Given the description of an element on the screen output the (x, y) to click on. 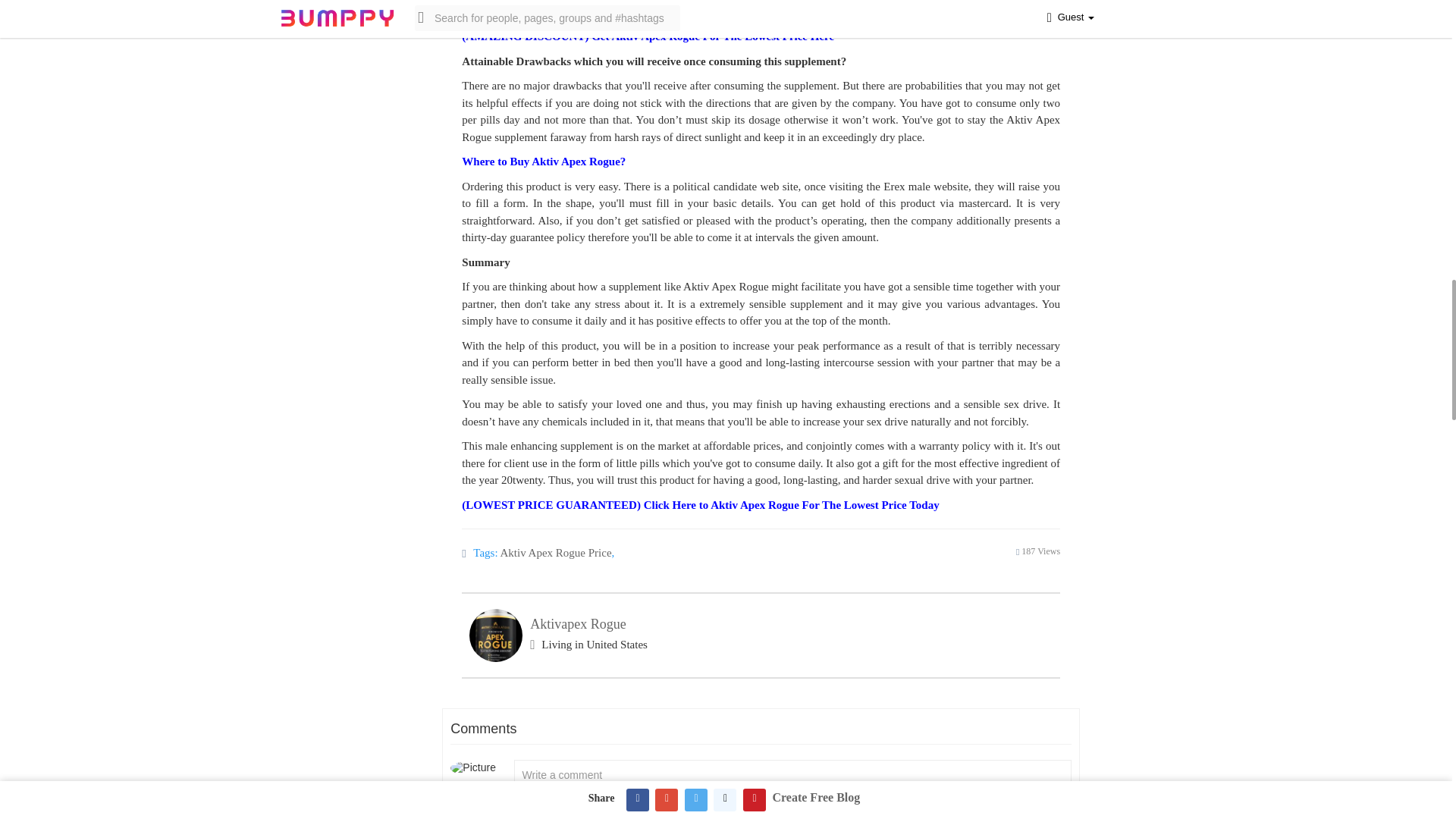
Aktivapex Rogue (577, 623)
Aktiv Apex Rogue Price (555, 552)
POST (1030, 812)
CANCEL (959, 812)
Where to Buy Aktiv Apex Rogue? (545, 161)
